Given the description of an element on the screen output the (x, y) to click on. 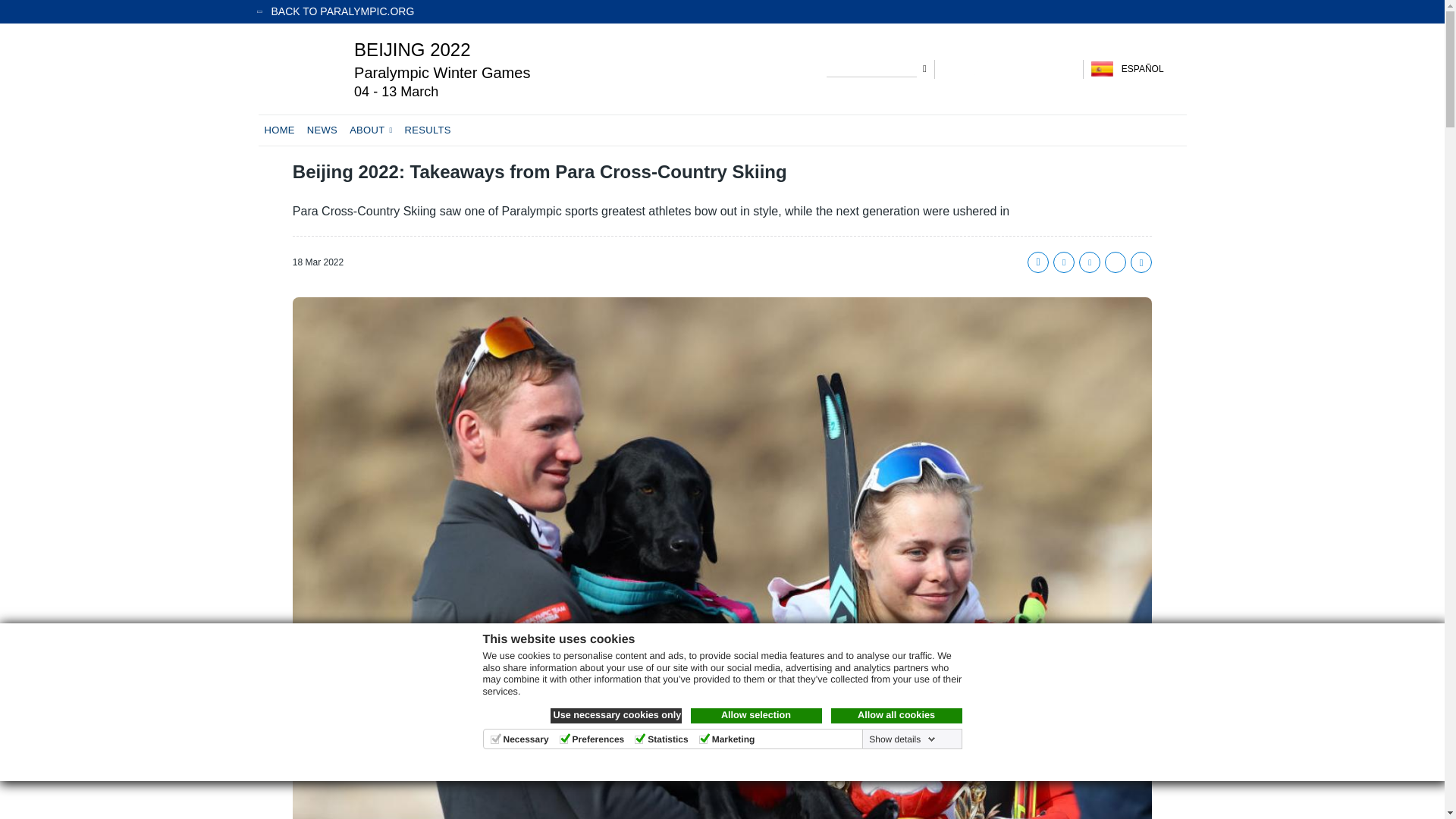
Allow all cookies (896, 715)
Allow selection (755, 715)
Use necessary cookies only (615, 715)
Show details (900, 739)
